Given the description of an element on the screen output the (x, y) to click on. 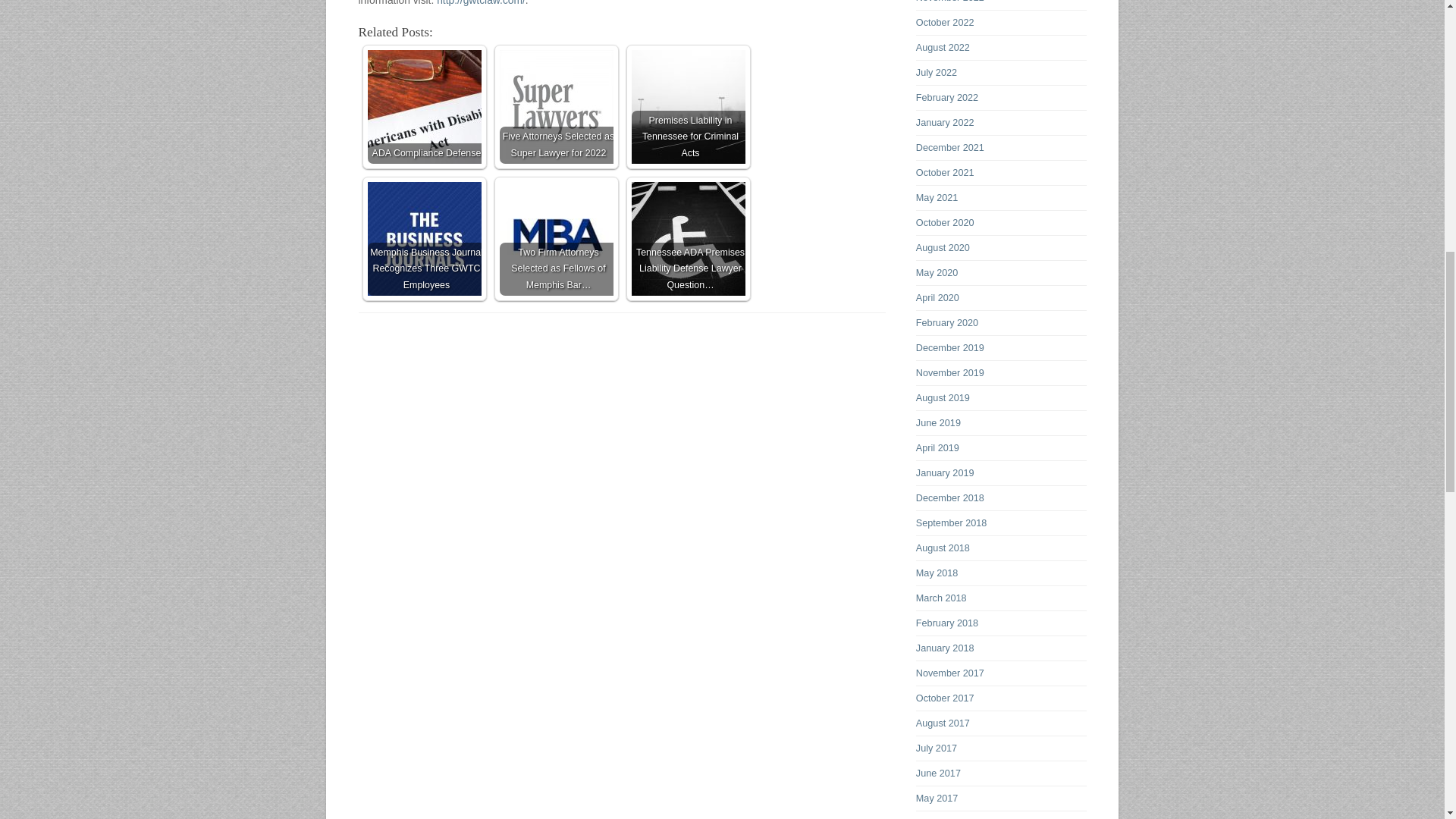
Five Attorneys Selected as Super Lawyer for 2022 (555, 106)
Memphis Business Journal Recognizes Three GWTC Employees (423, 238)
October 2021 (944, 172)
ADA Compliance Defense (423, 106)
July 2022 (935, 72)
October 2022 (944, 22)
Premises Liability in Tennessee for Criminal Acts (687, 106)
November 2022 (949, 1)
January 2022 (944, 122)
ADA Compliance Defense (423, 106)
Premises Liability in Tennessee for Criminal Acts (687, 106)
Memphis Business Journal Recognizes Three GWTC Employees (423, 238)
August 2022 (942, 47)
February 2022 (946, 97)
